Given the description of an element on the screen output the (x, y) to click on. 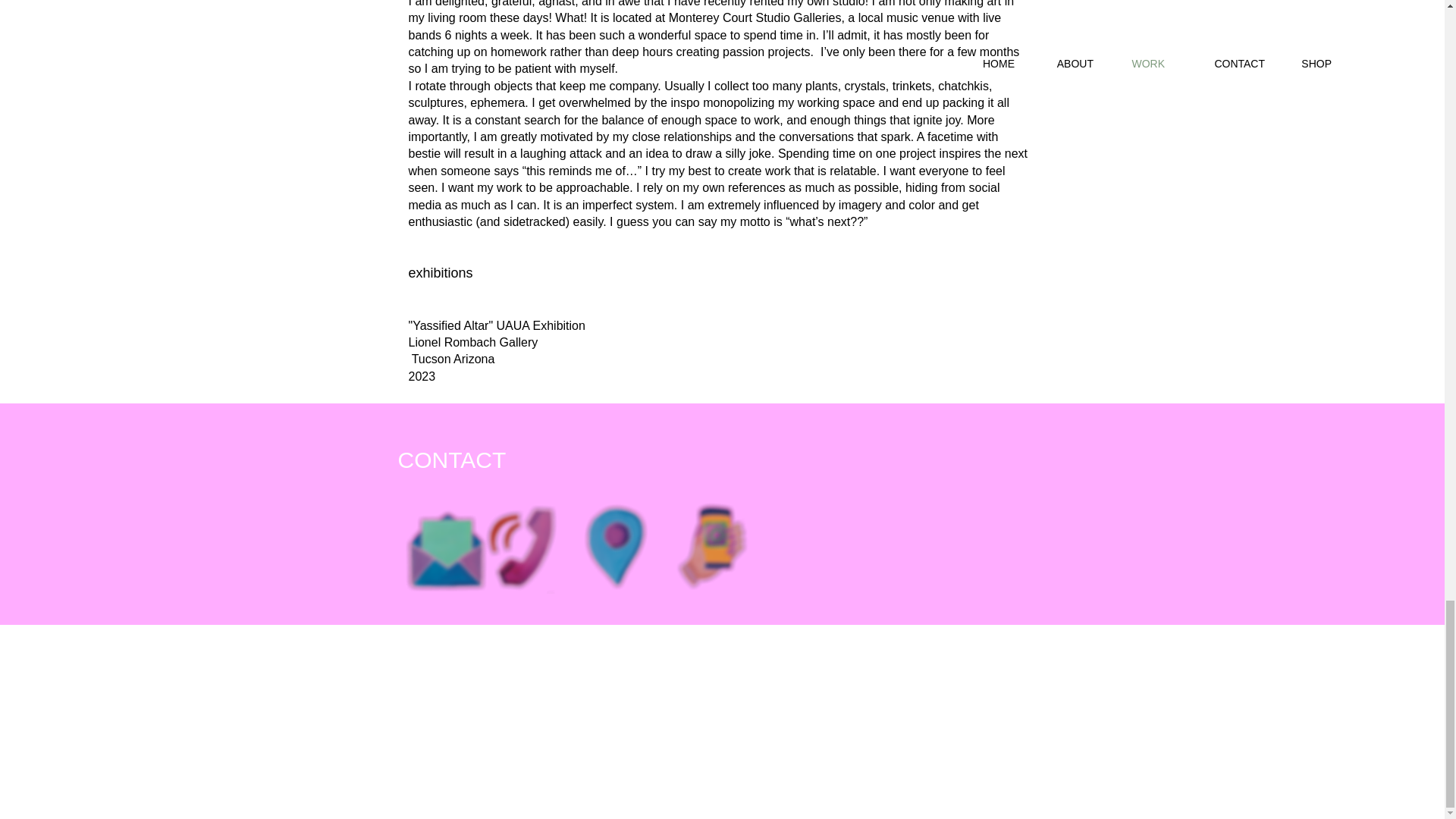
Wix.com (534, 807)
